Given the description of an element on the screen output the (x, y) to click on. 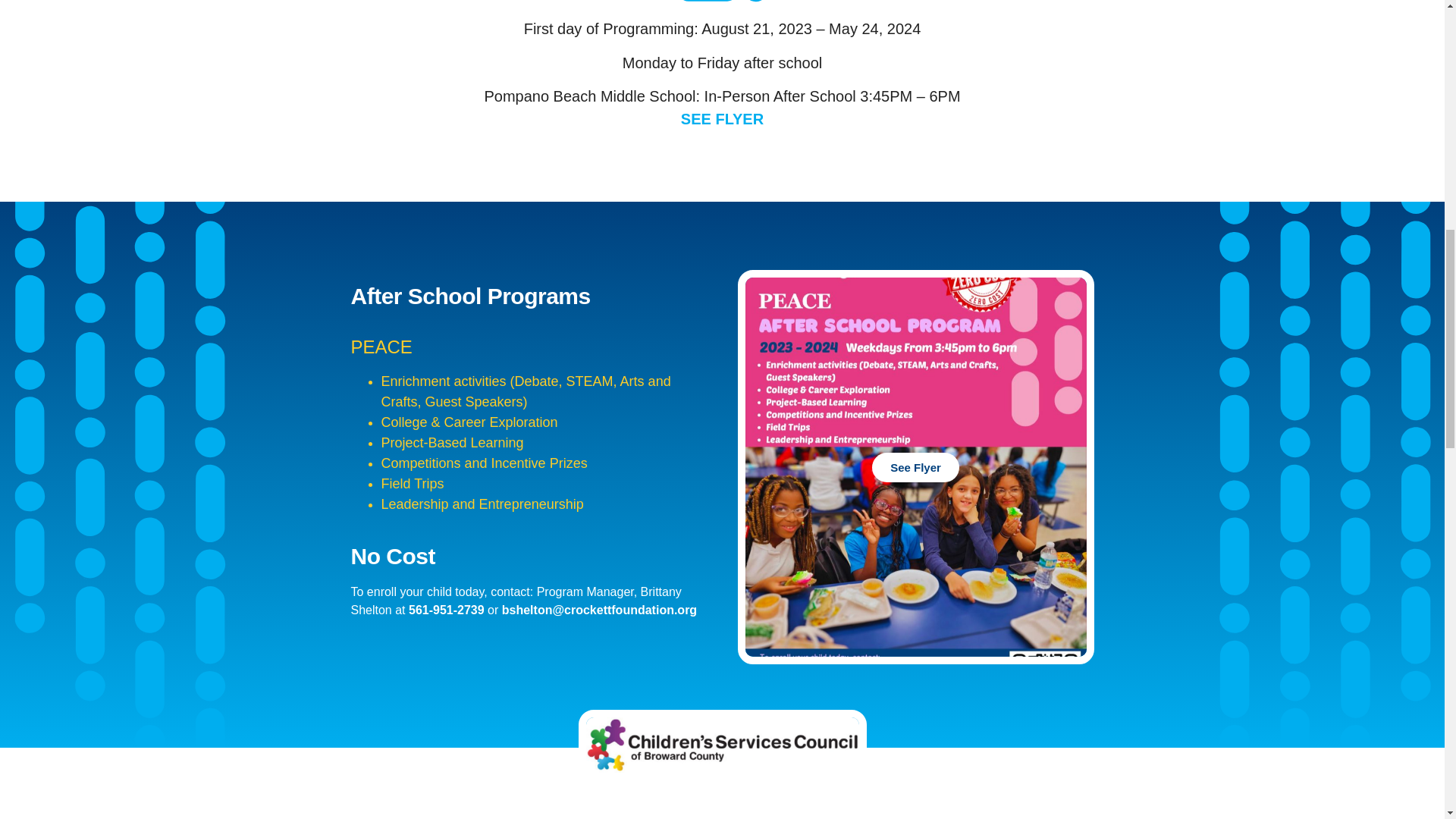
SEE FLYER (721, 118)
See Flyer (915, 466)
